Given the description of an element on the screen output the (x, y) to click on. 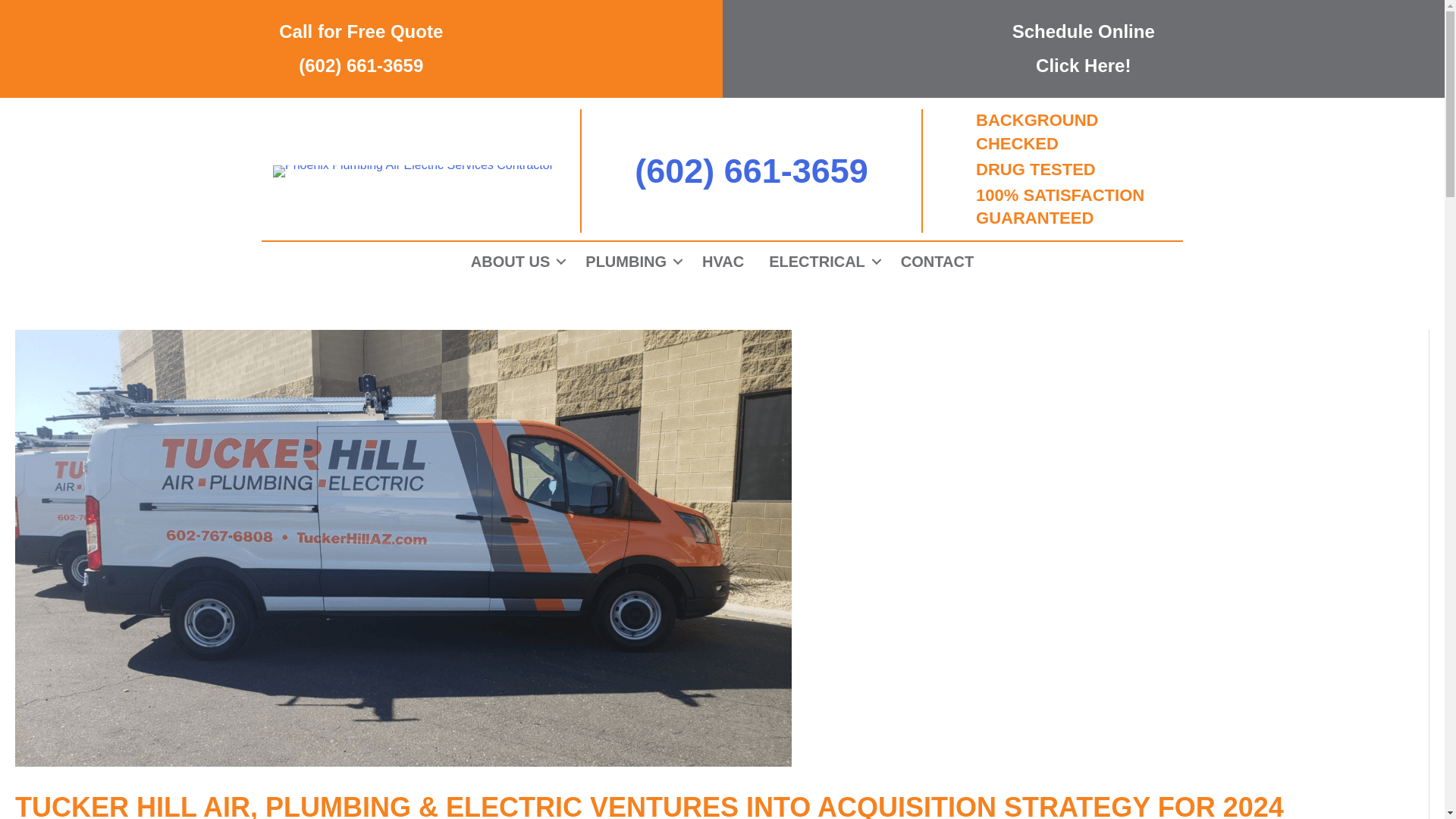
ELECTRICAL (822, 261)
Phoenix Plumbing Air Electric Services Contractor (515, 261)
CONTACT (936, 261)
Phoenix Plumbing Air Electric Services Contractor (936, 261)
HVAC (722, 261)
Phoenix Plumbing Services (630, 261)
ABOUT US (515, 261)
PLUMBING (630, 261)
